Given the description of an element on the screen output the (x, y) to click on. 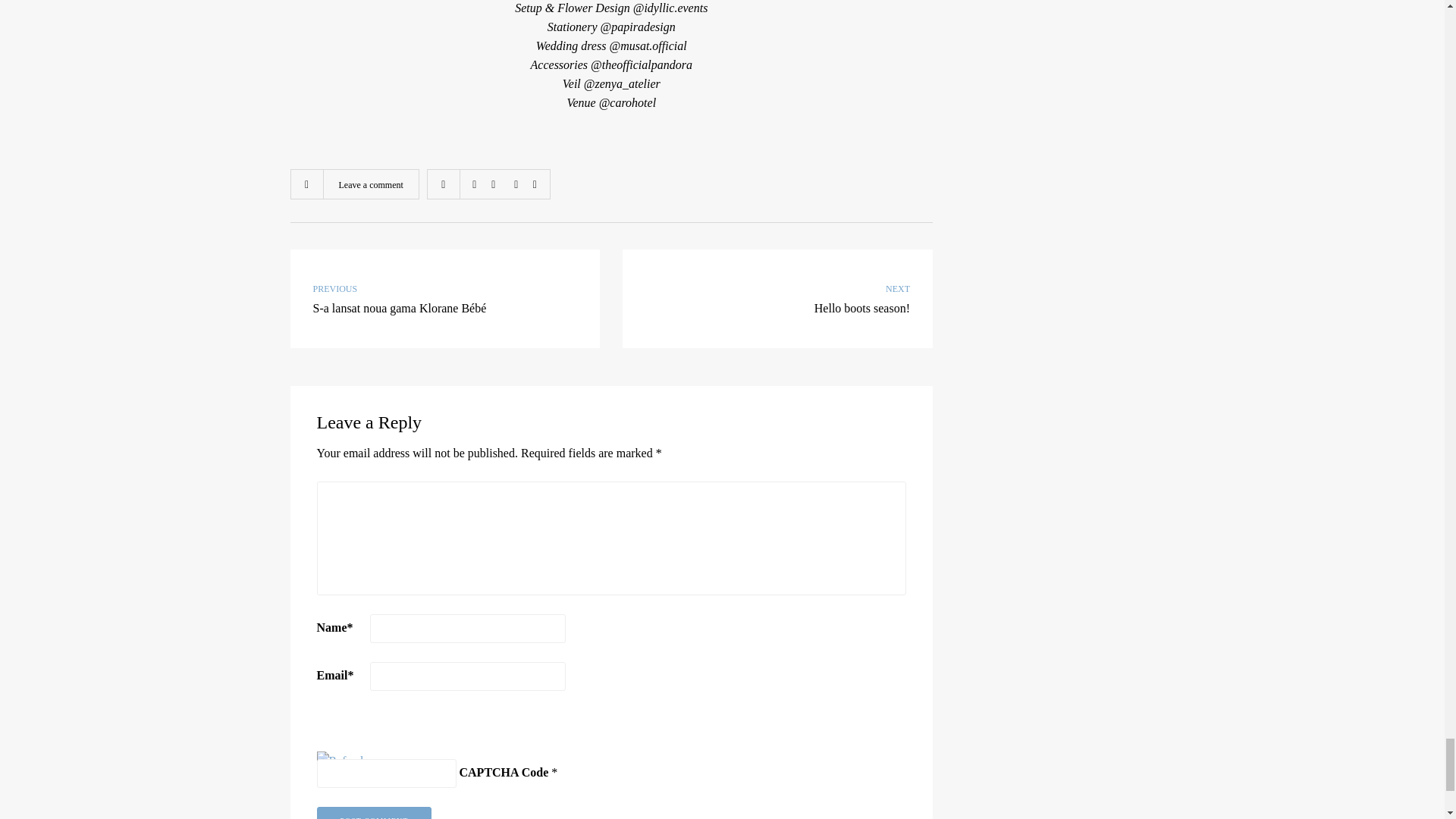
Leave a comment (370, 184)
Post comment (374, 812)
CAPTCHA (366, 734)
Refresh (341, 760)
